Given the description of an element on the screen output the (x, y) to click on. 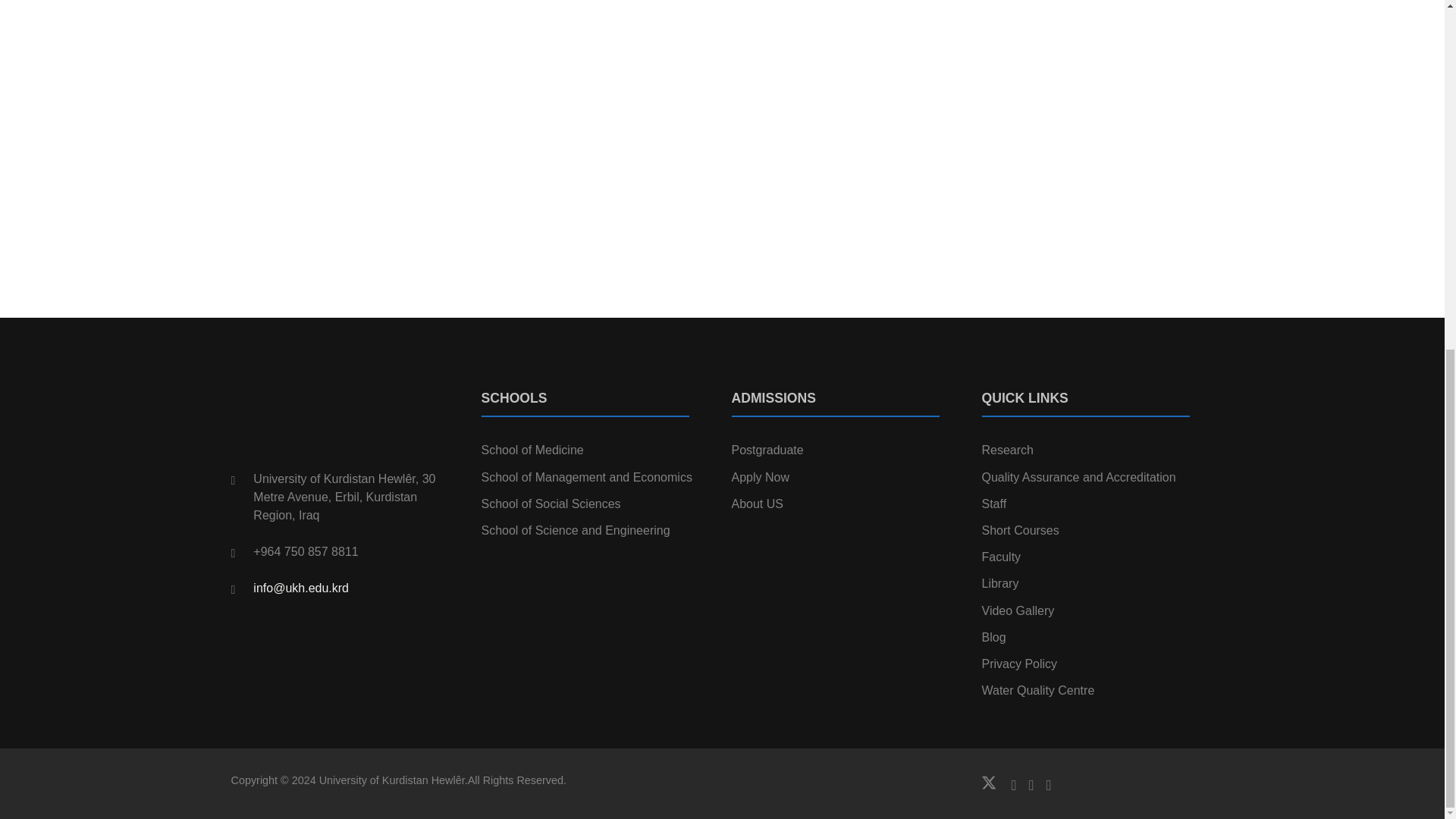
Twitter (995, 783)
School of Medicine (531, 449)
School of Management and Economics (585, 477)
School of Social Sciences (550, 503)
